Given the description of an element on the screen output the (x, y) to click on. 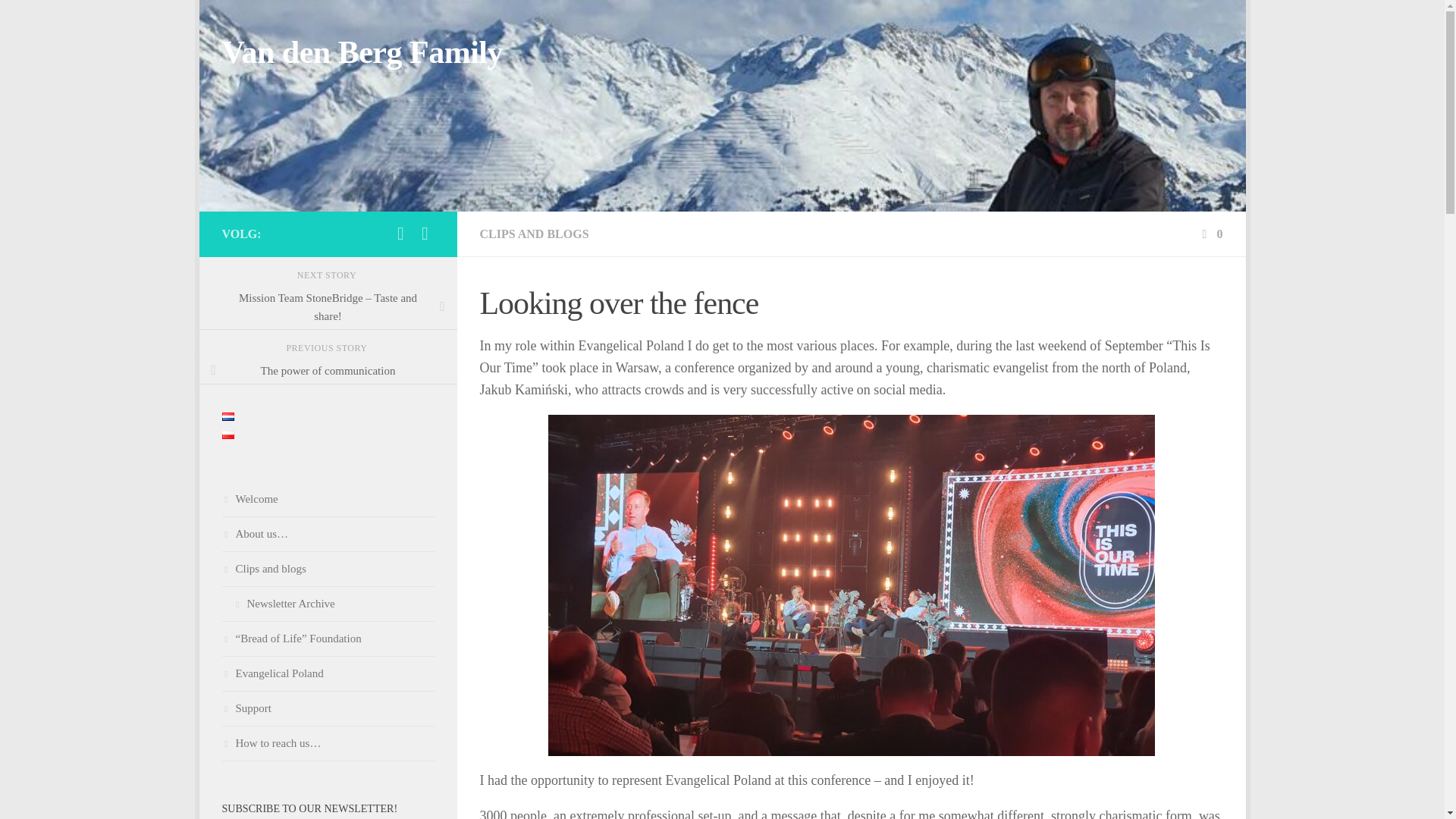
0 (1210, 233)
Clips and blogs (327, 569)
The power of communication (327, 370)
Newsletter Archive (327, 604)
Van den Berg Family (361, 53)
Facebook (400, 233)
Evangelical Poland (327, 673)
Email (423, 233)
Welcome (327, 499)
Support (327, 708)
